Given the description of an element on the screen output the (x, y) to click on. 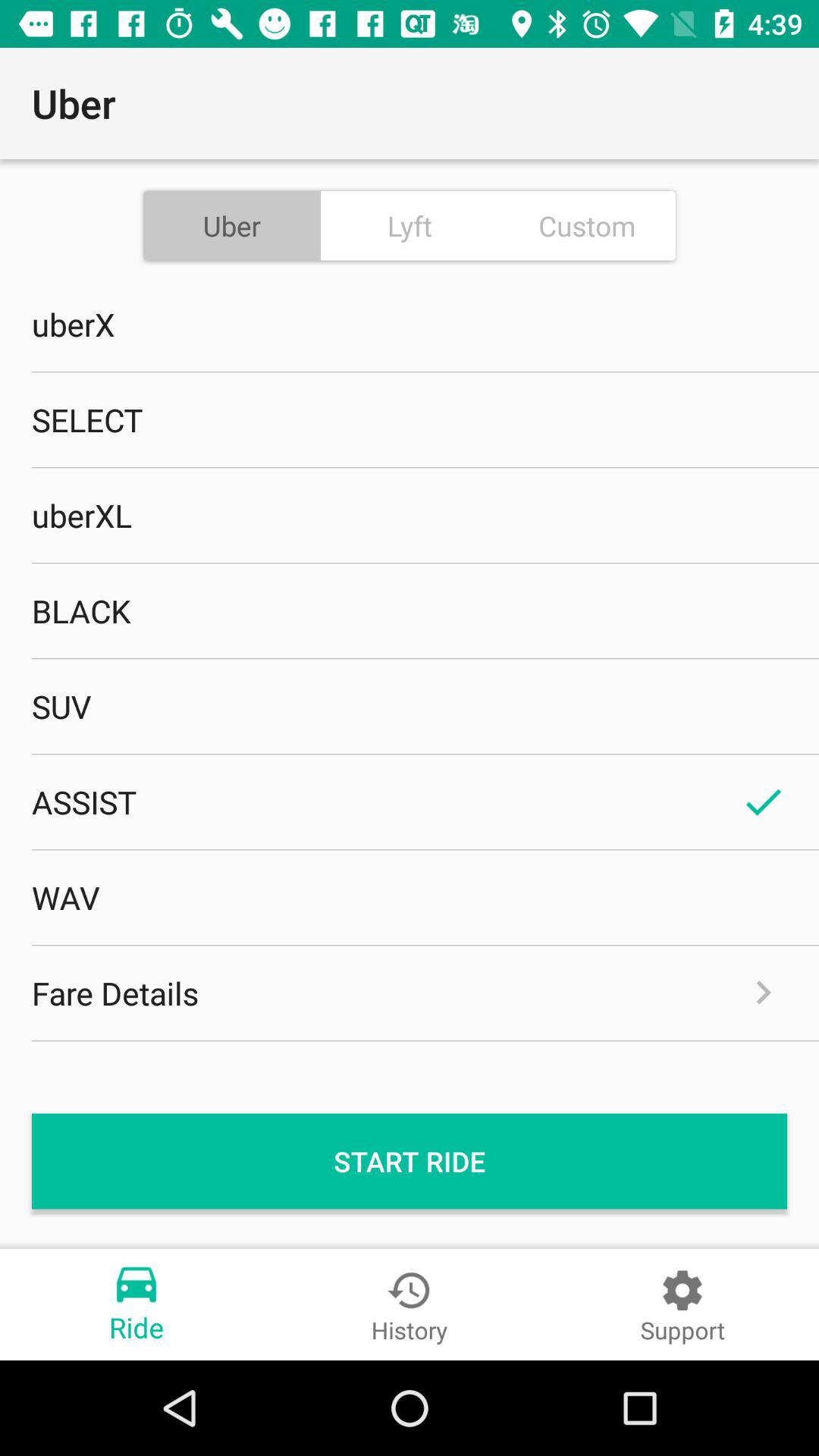
tap the item above the uberxl (409, 419)
